Given the description of an element on the screen output the (x, y) to click on. 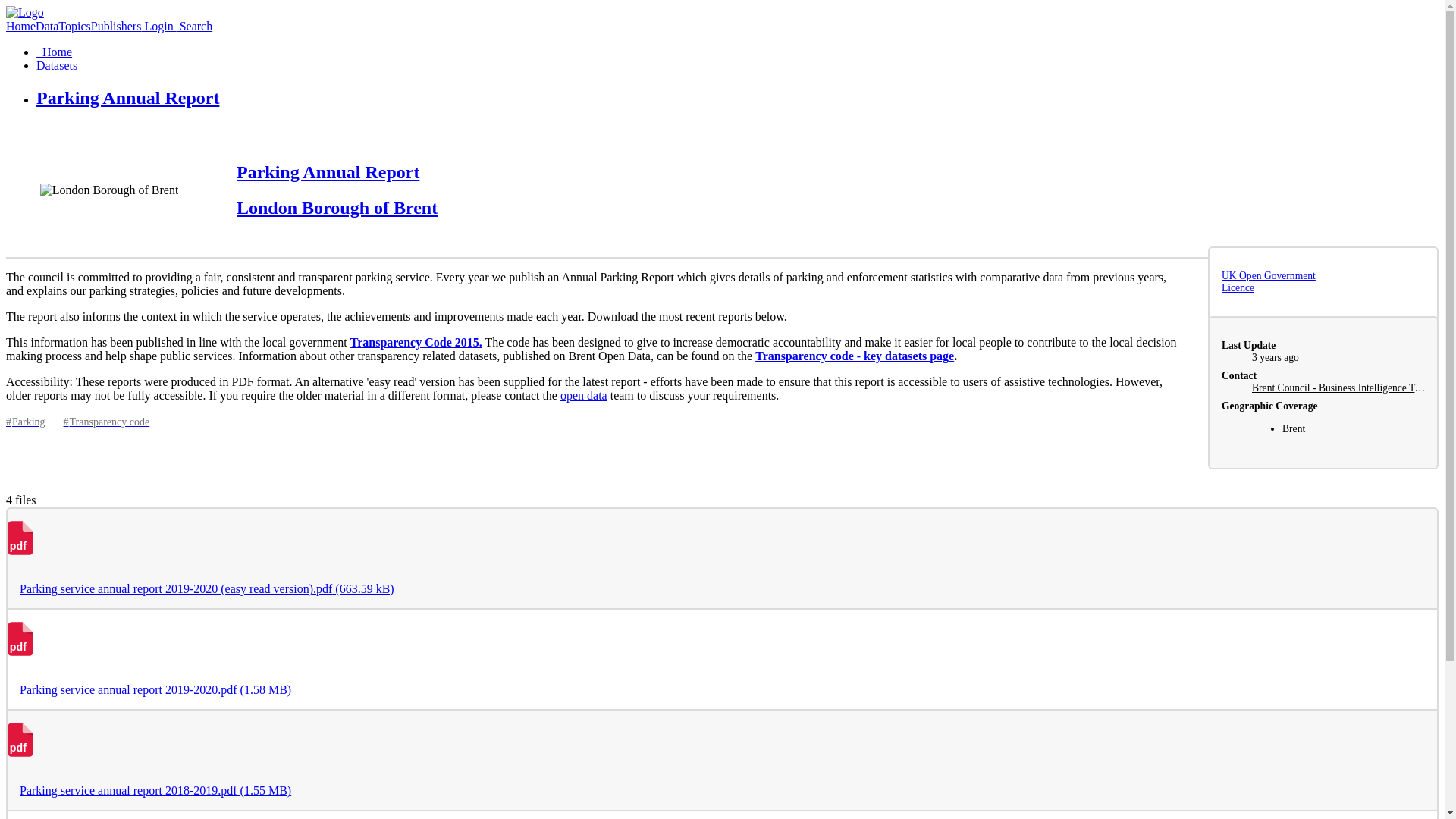
Publishers (115, 25)
Transparency code - key datasets page (854, 355)
Topics (74, 25)
Datasets (56, 65)
Data (46, 25)
open data (583, 395)
  Home (53, 51)
 Search (194, 25)
London Borough of Brent (336, 207)
Login (158, 25)
Parking Annual Report (327, 171)
Brent Council - Business Intelligence Team (1341, 387)
Home (19, 25)
Transparency Code 2015. (415, 341)
